Given the description of an element on the screen output the (x, y) to click on. 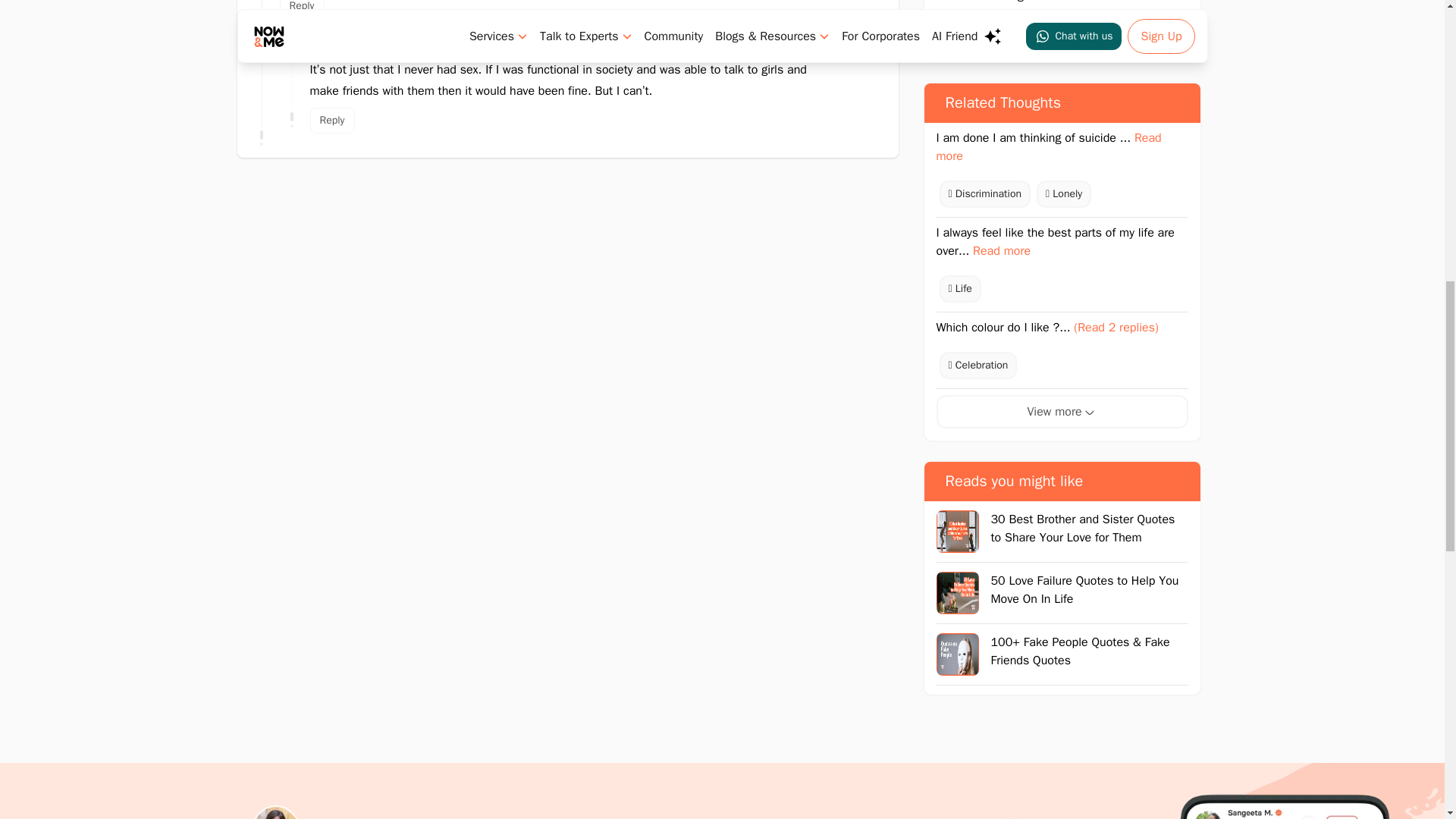
Share on Twitter (1115, 32)
Share on Twitter (1006, 32)
Share on Twitter (1061, 32)
Share on WhatsApp (952, 32)
